Given the description of an element on the screen output the (x, y) to click on. 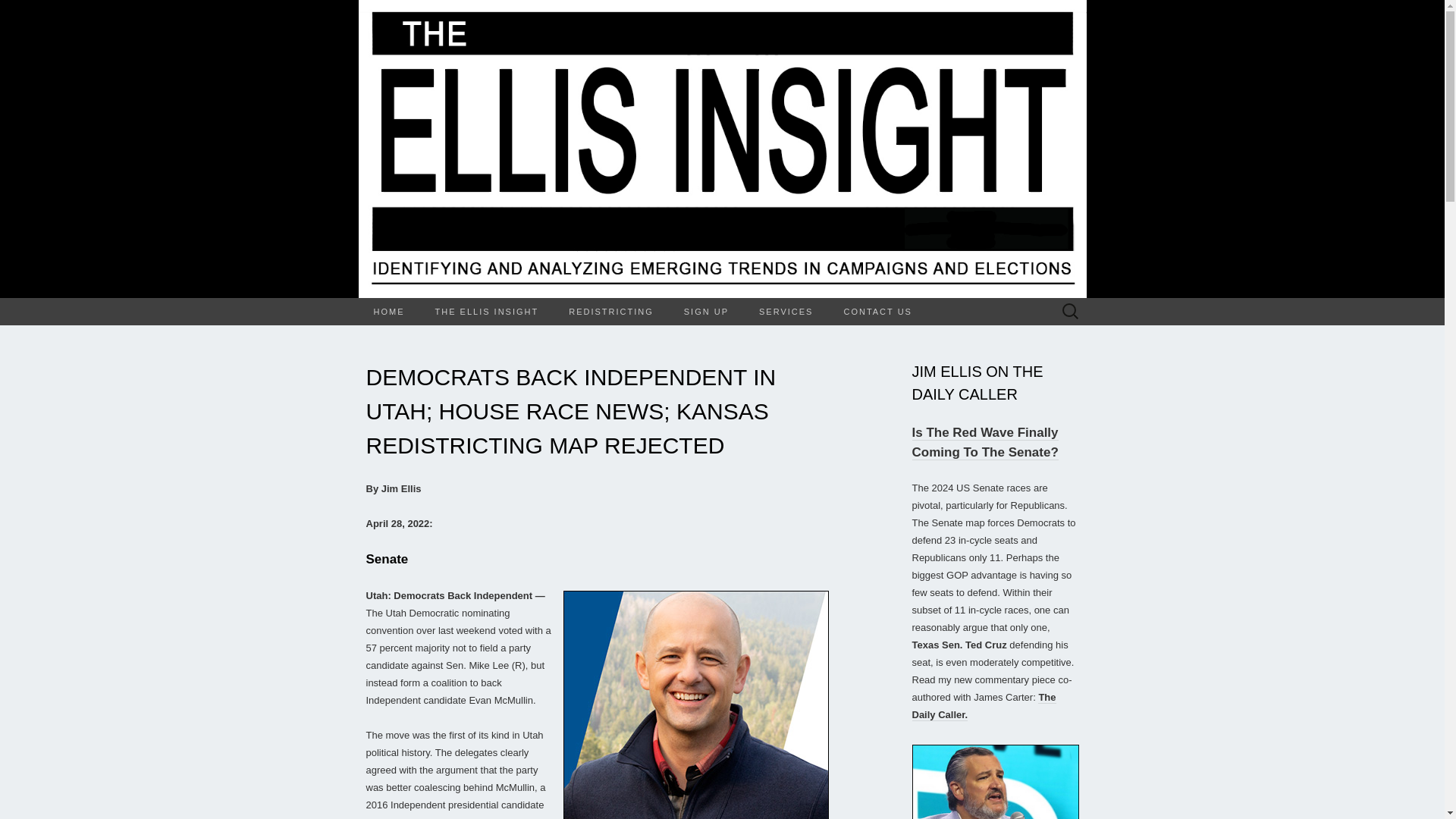
REDISTRICTING (610, 311)
THE ELLIS INSIGHT (487, 311)
HOME (388, 311)
SIGN UP (706, 311)
SERVICES (786, 311)
